Given the description of an element on the screen output the (x, y) to click on. 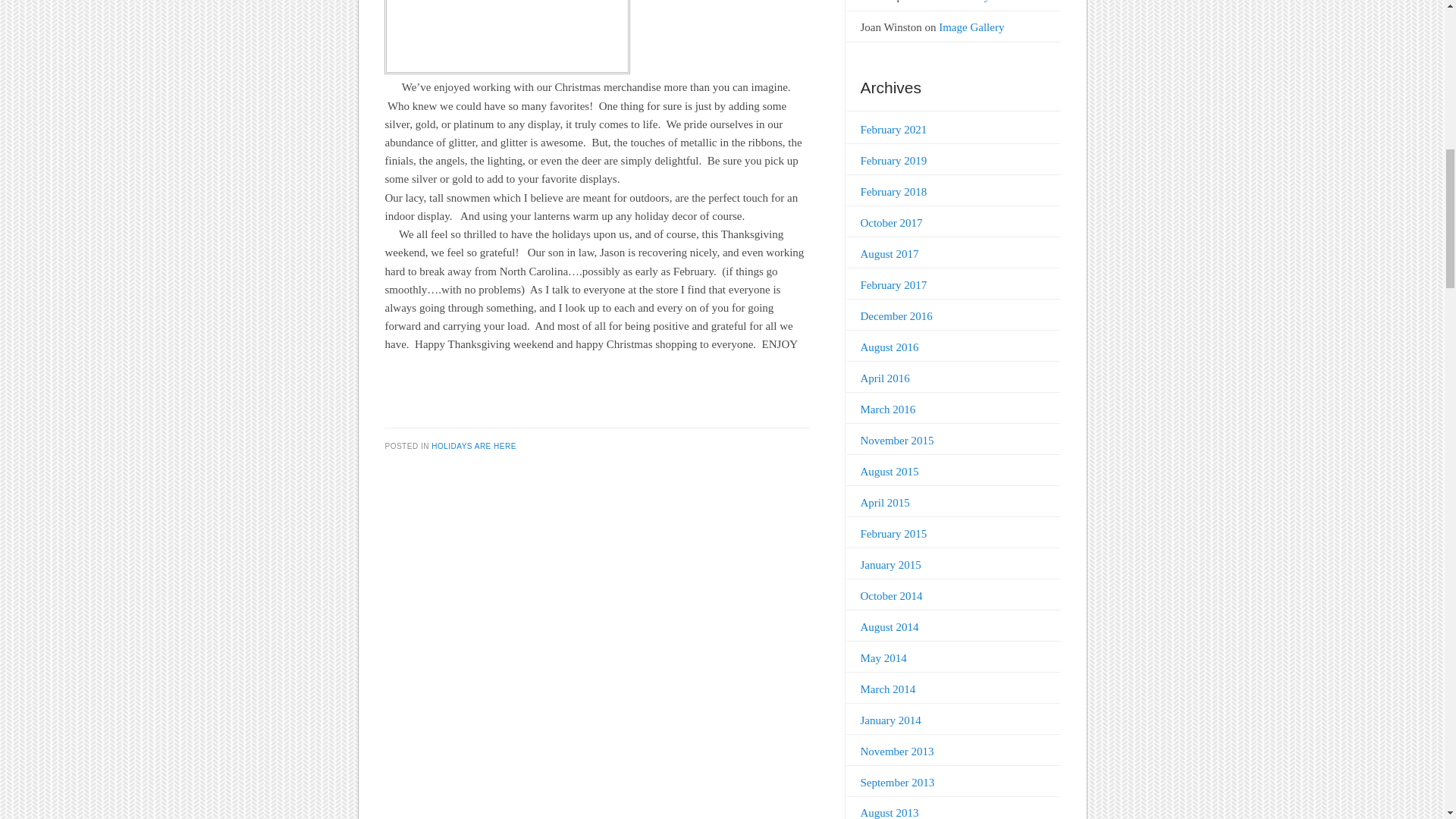
February 2017 (893, 285)
August 2016 (889, 346)
February 2021 (893, 129)
October 2017 (890, 223)
August 2017 (889, 254)
April 2016 (884, 378)
December 2016 (895, 316)
February 2018 (893, 191)
March 2016 (887, 409)
HOLIDAYS ARE HERE (473, 445)
February 2019 (893, 160)
Our History (962, 1)
November 2015 (896, 440)
Image Gallery (971, 27)
